Given the description of an element on the screen output the (x, y) to click on. 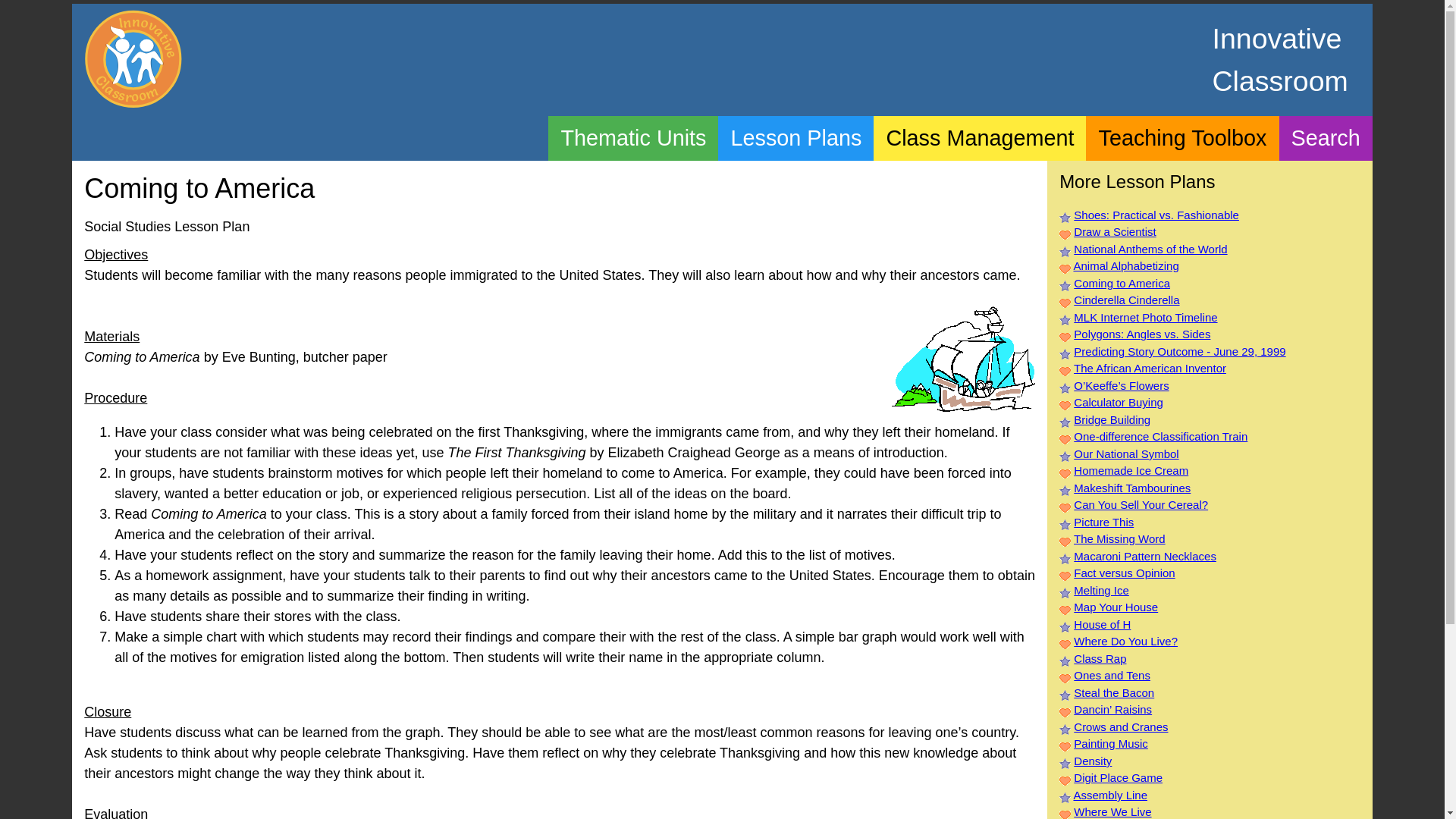
One-difference Classification Train (1160, 436)
Class Management (979, 137)
National Anthems of the World (1150, 248)
Coming to America (1122, 282)
Innovative Classroom (133, 58)
Bridge Building (1112, 419)
Shoes: Practical vs. Fashionable (1156, 214)
Teaching Toolbox (1182, 137)
The Missing Word (1120, 538)
Melting Ice (1101, 590)
